Given the description of an element on the screen output the (x, y) to click on. 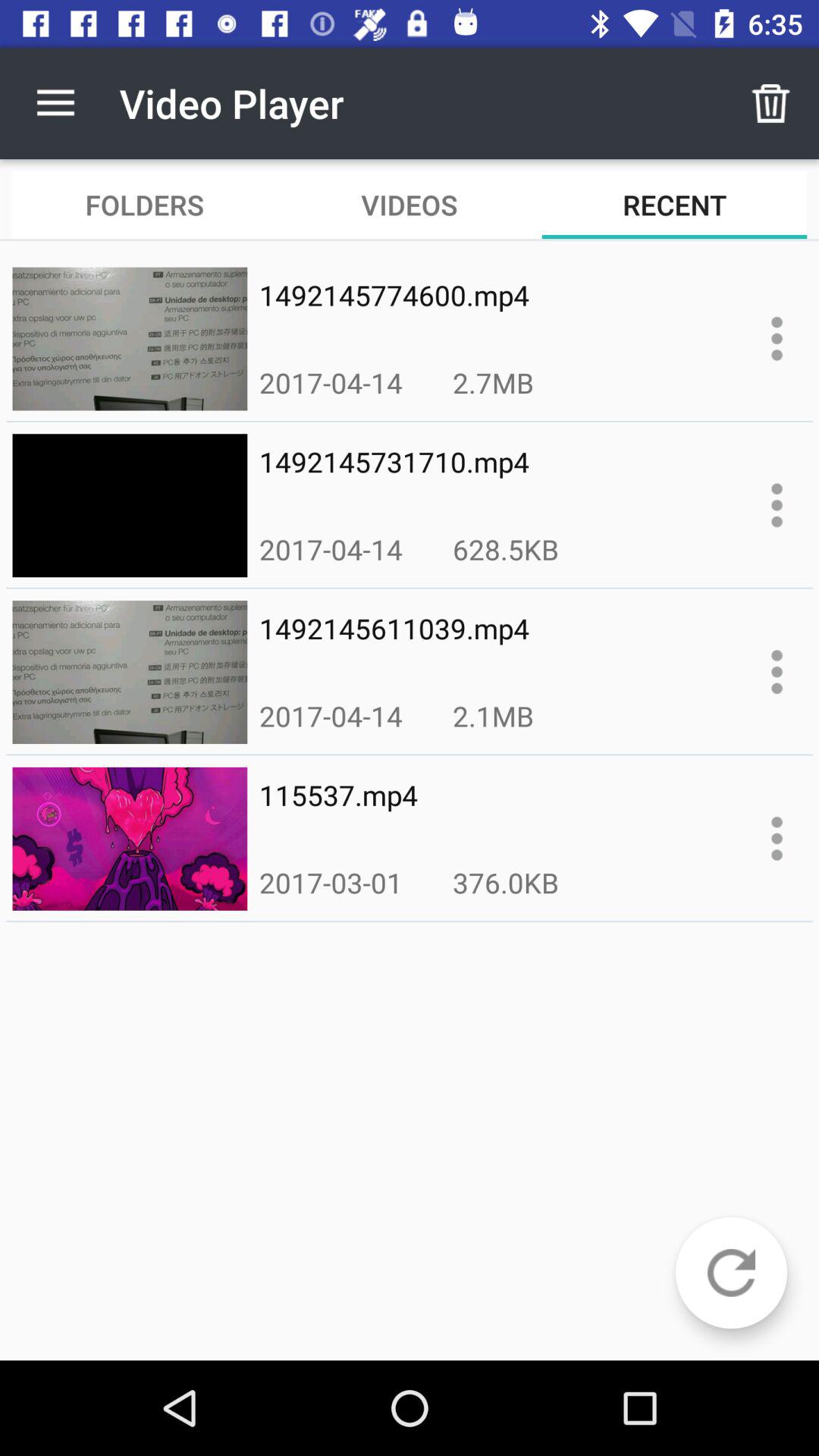
turn off icon below 115537.mp4 icon (505, 882)
